Given the description of an element on the screen output the (x, y) to click on. 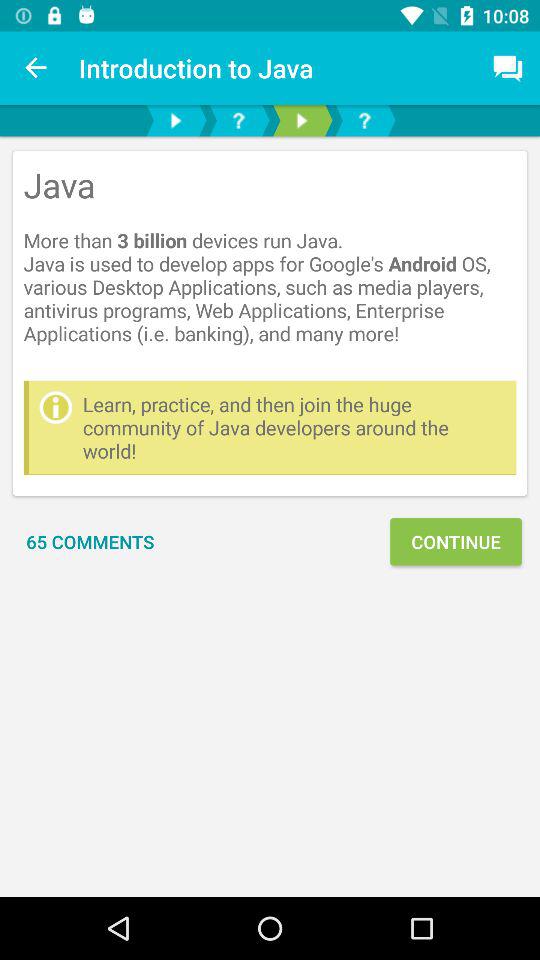
a tab with a (238, 120)
